Given the description of an element on the screen output the (x, y) to click on. 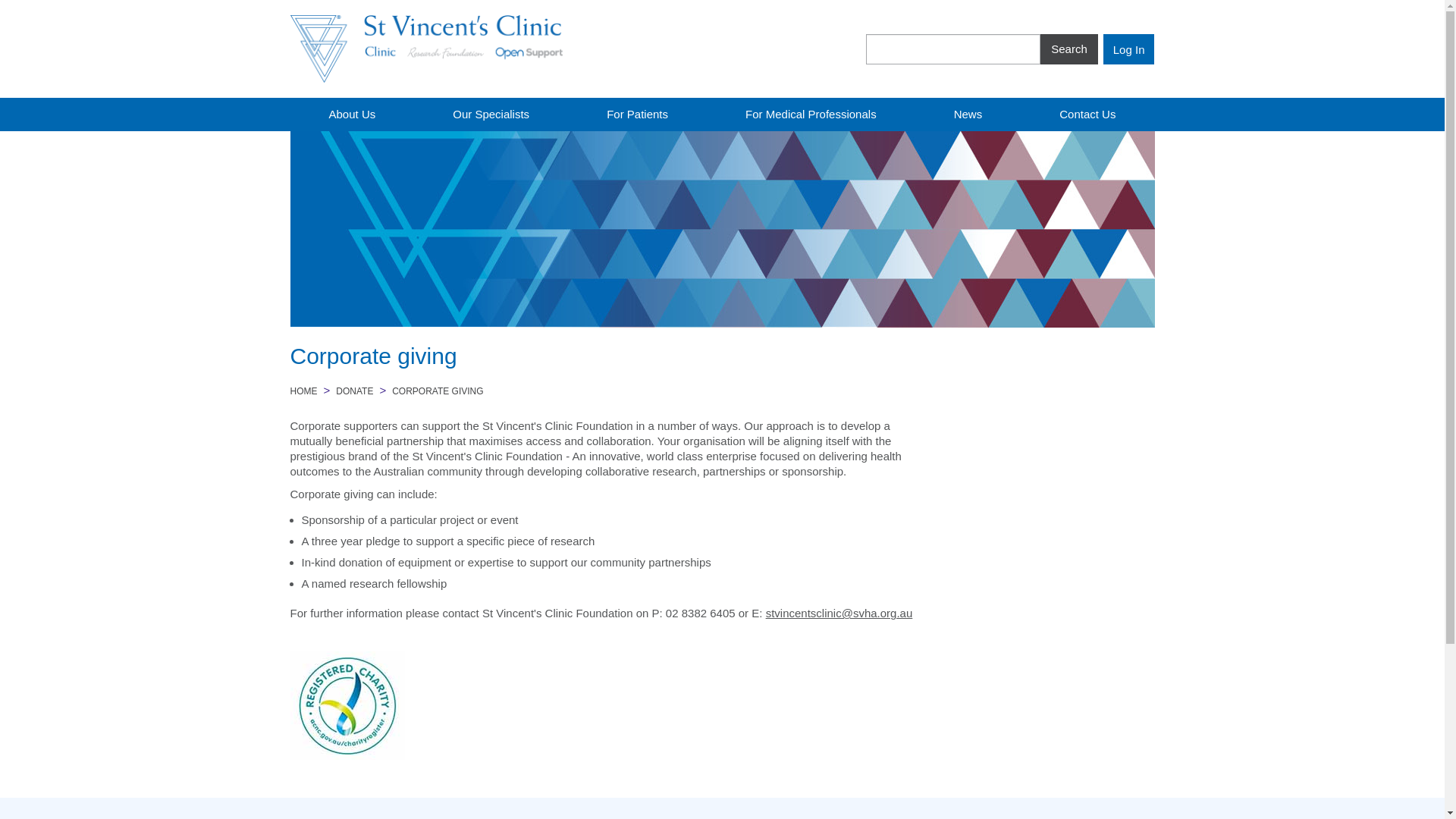
Search (1069, 49)
News (967, 112)
For Medical Professionals (810, 112)
HOME (303, 390)
CORPORATE GIVING (437, 390)
Contact Us (1087, 112)
DONATE (354, 390)
Our Specialists (490, 112)
Search (1069, 49)
